Given the description of an element on the screen output the (x, y) to click on. 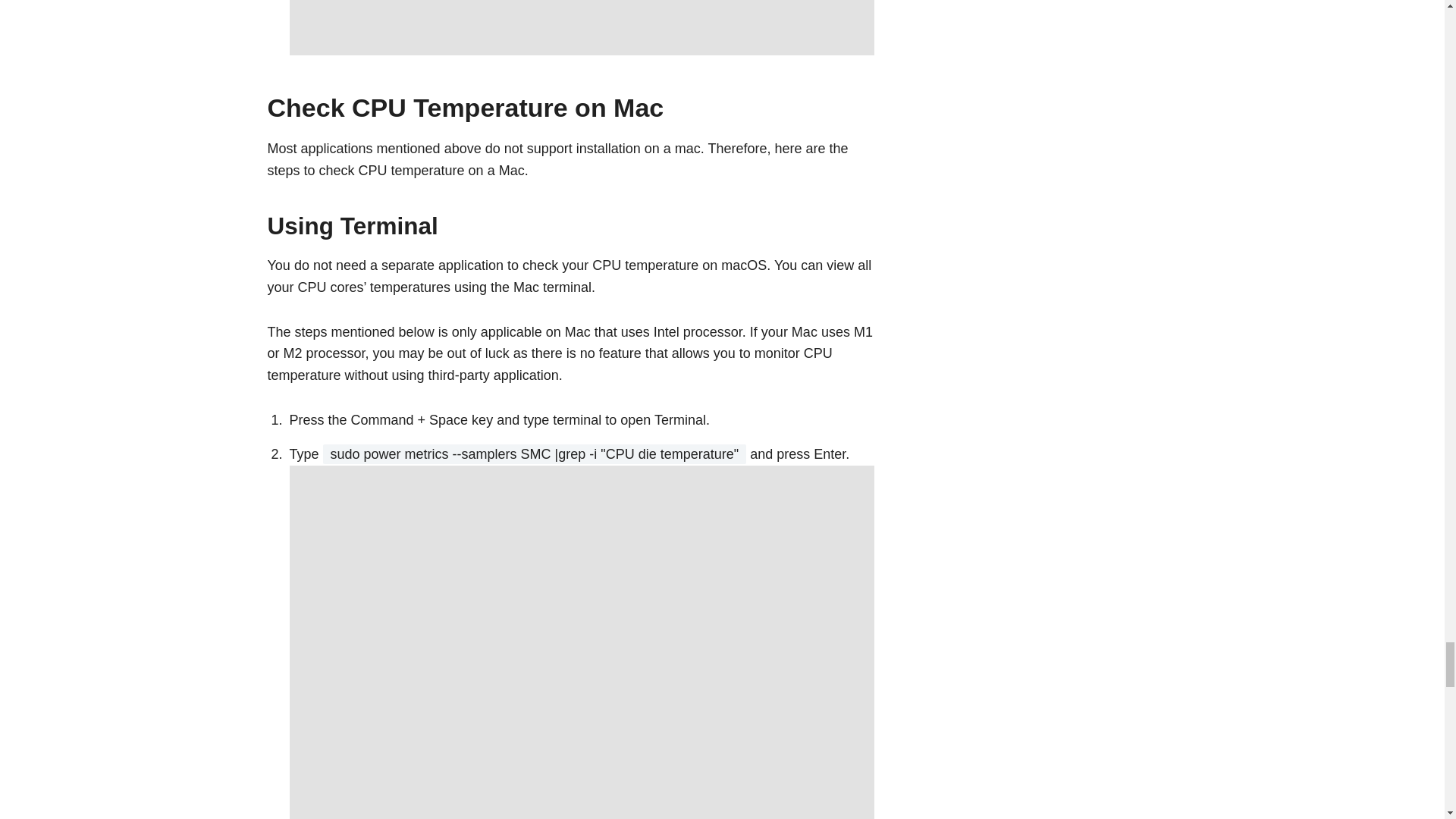
8 Best Tools To Monitor CPU Temperature 28 (582, 27)
